Given the description of an element on the screen output the (x, y) to click on. 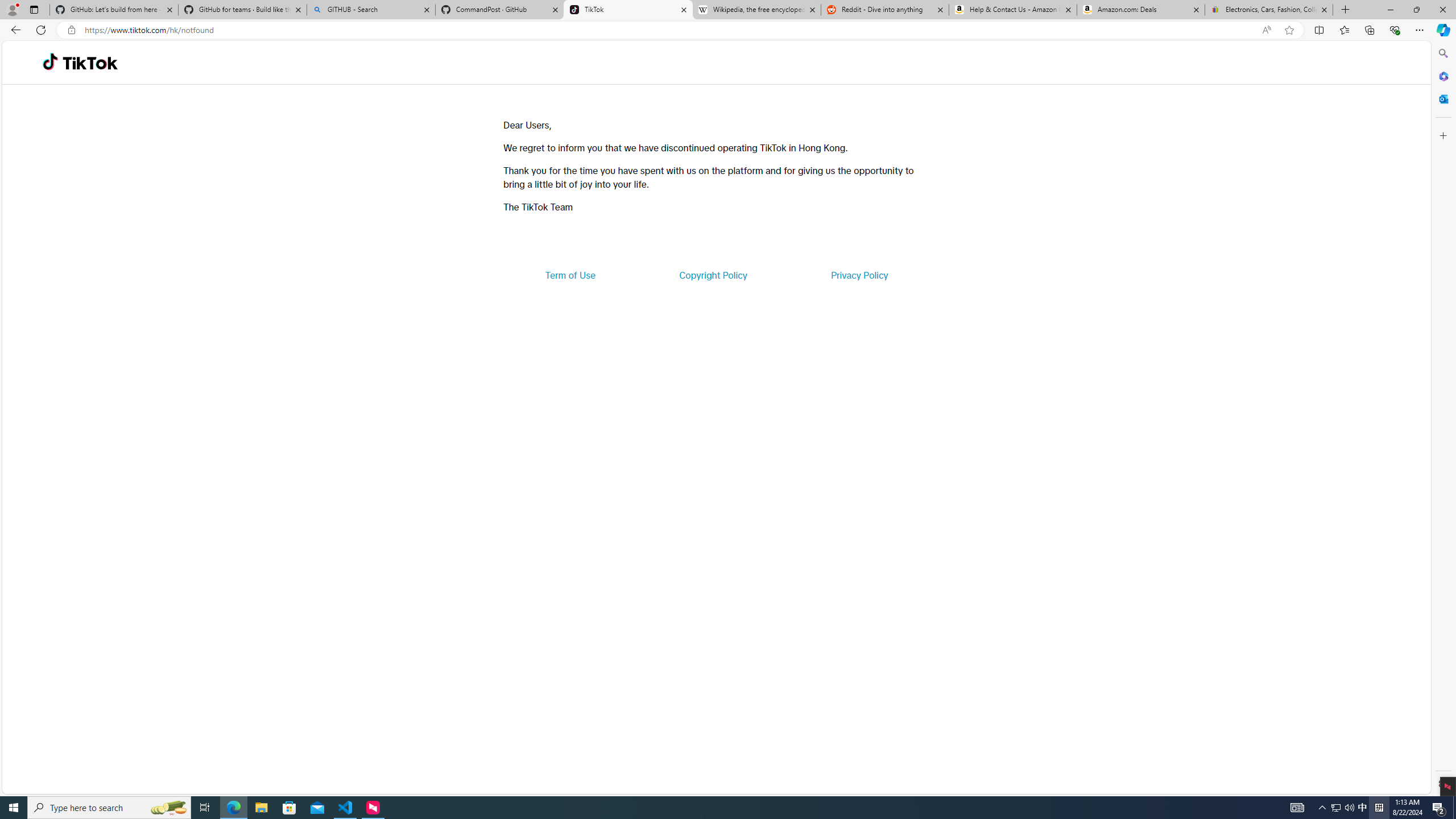
TikTok (628, 9)
